Given the description of an element on the screen output the (x, y) to click on. 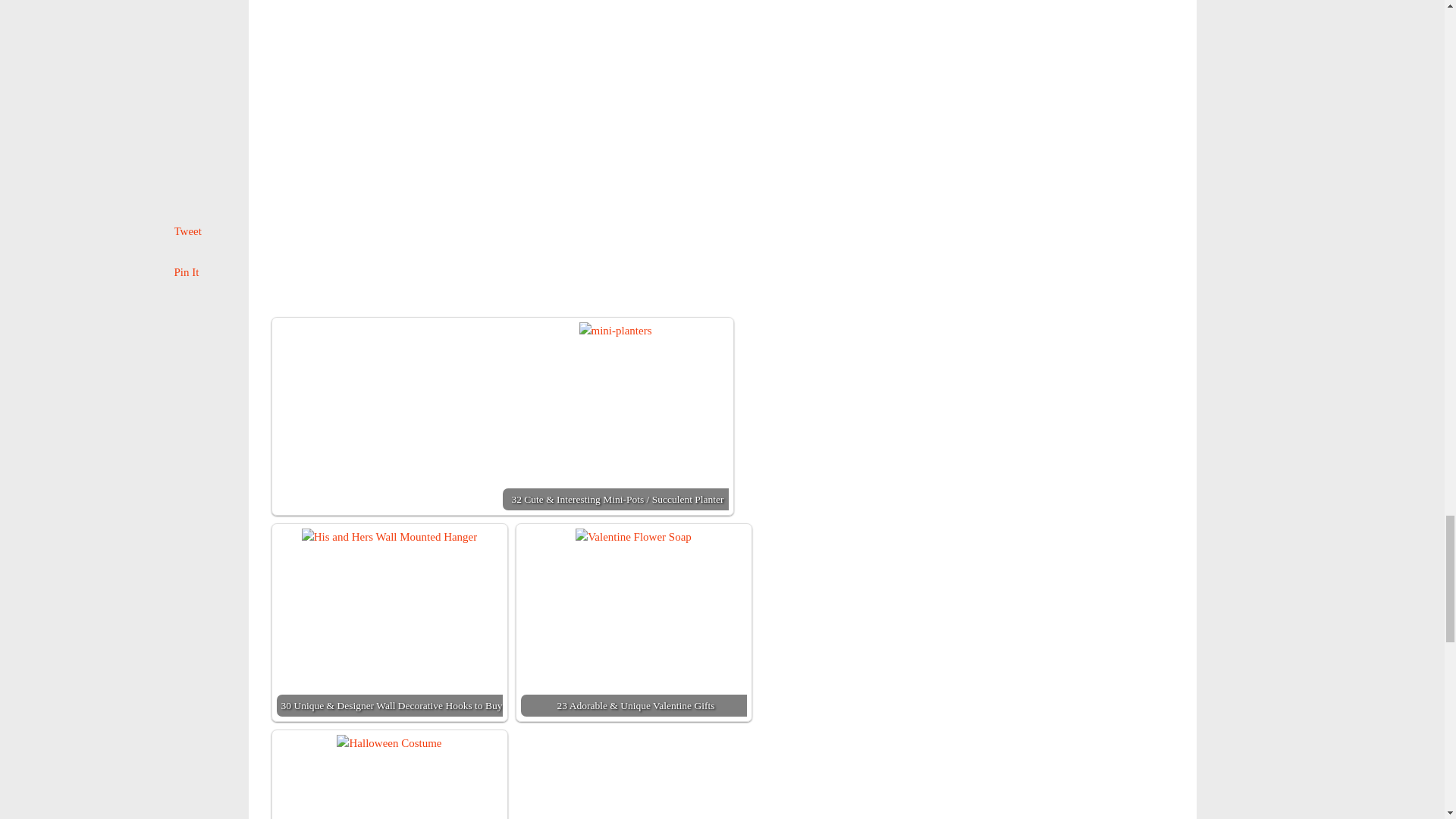
14 Amazing Couple Costumes for Halloween Party (389, 776)
14 Amazing Couple Costumes for Halloween Party (388, 743)
You may also like: (379, 62)
